Given the description of an element on the screen output the (x, y) to click on. 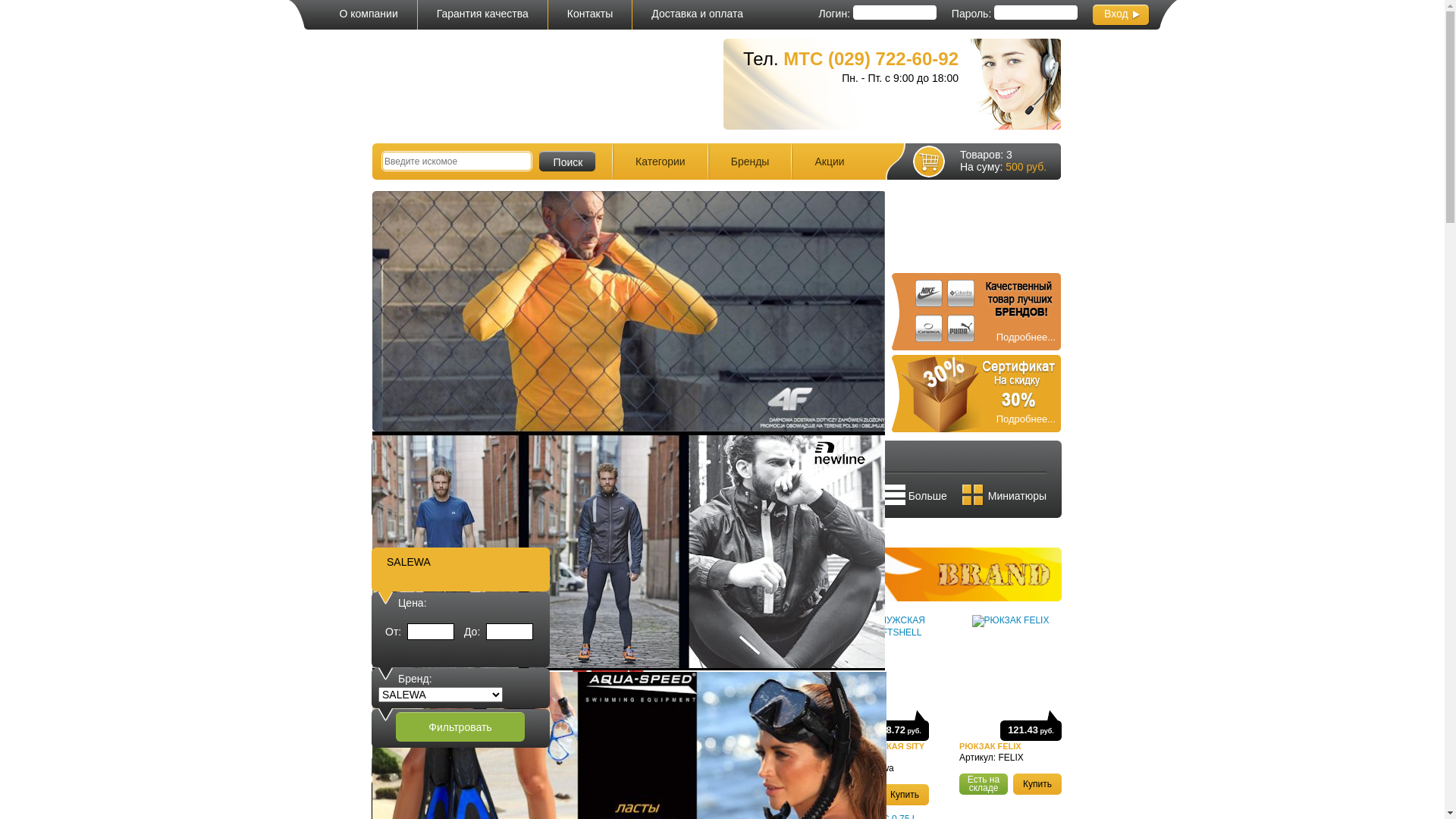
SALEWA Element type: text (408, 561)
